Given the description of an element on the screen output the (x, y) to click on. 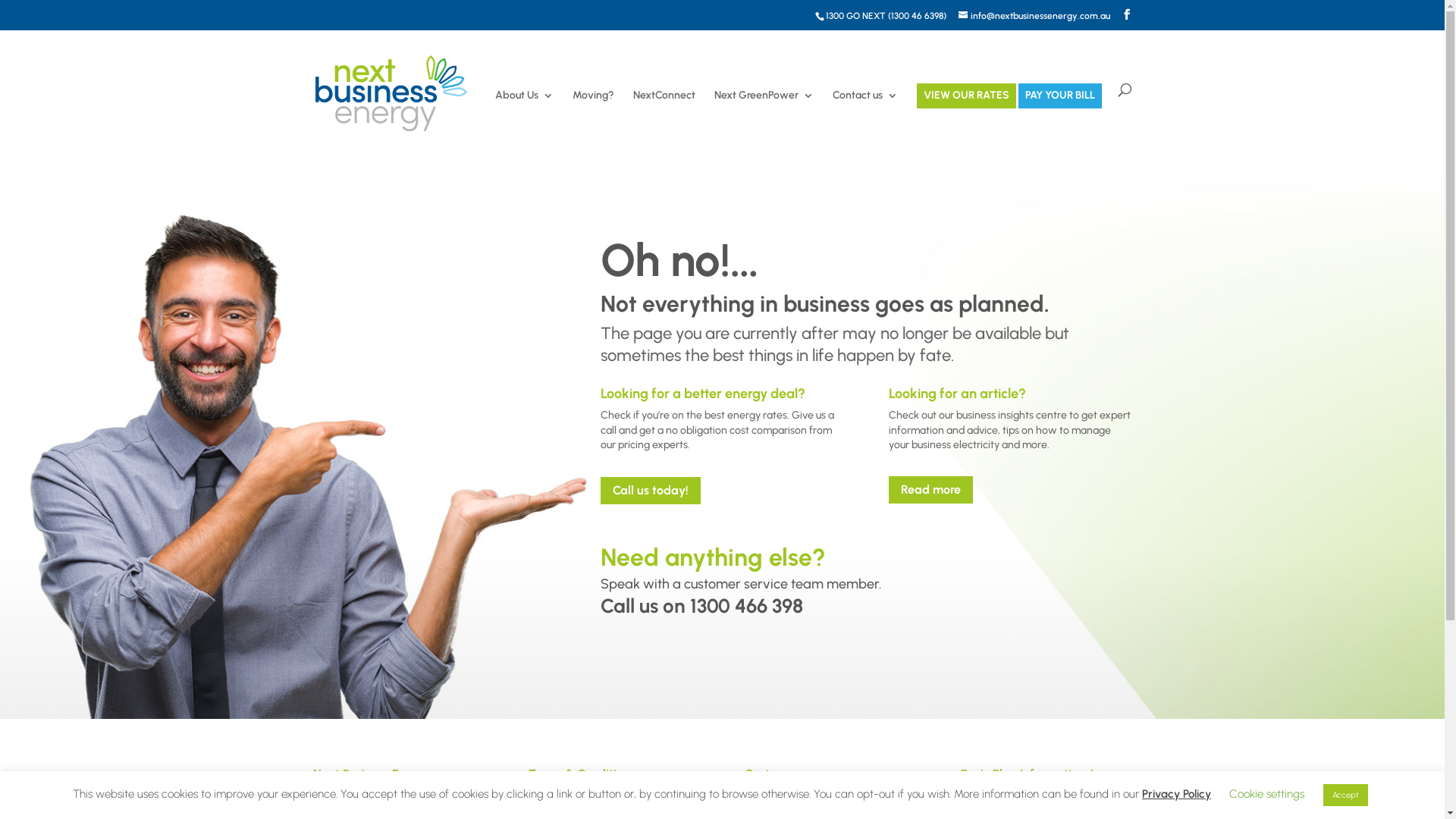
Next GreenPower Element type: text (763, 121)
Read more Element type: text (930, 490)
Moving? Element type: text (592, 121)
Contact us Element type: text (864, 121)
Cookie settings Element type: text (1266, 793)
info@nextbusinessenergy.com.au Element type: text (1034, 15)
NextConnect Element type: text (663, 121)
VIEW OUR RATES Element type: text (966, 121)
Accept Element type: text (1345, 795)
Pay your bill Element type: text (771, 794)
PAY YOUR BILL Element type: text (1060, 121)
Privacy Policy Element type: text (1176, 793)
Call us today! Element type: text (650, 490)
Refer a Business Element type: text (782, 809)
About Us Element type: text (523, 121)
Australian Capital Territory Element type: text (1023, 806)
